Given the description of an element on the screen output the (x, y) to click on. 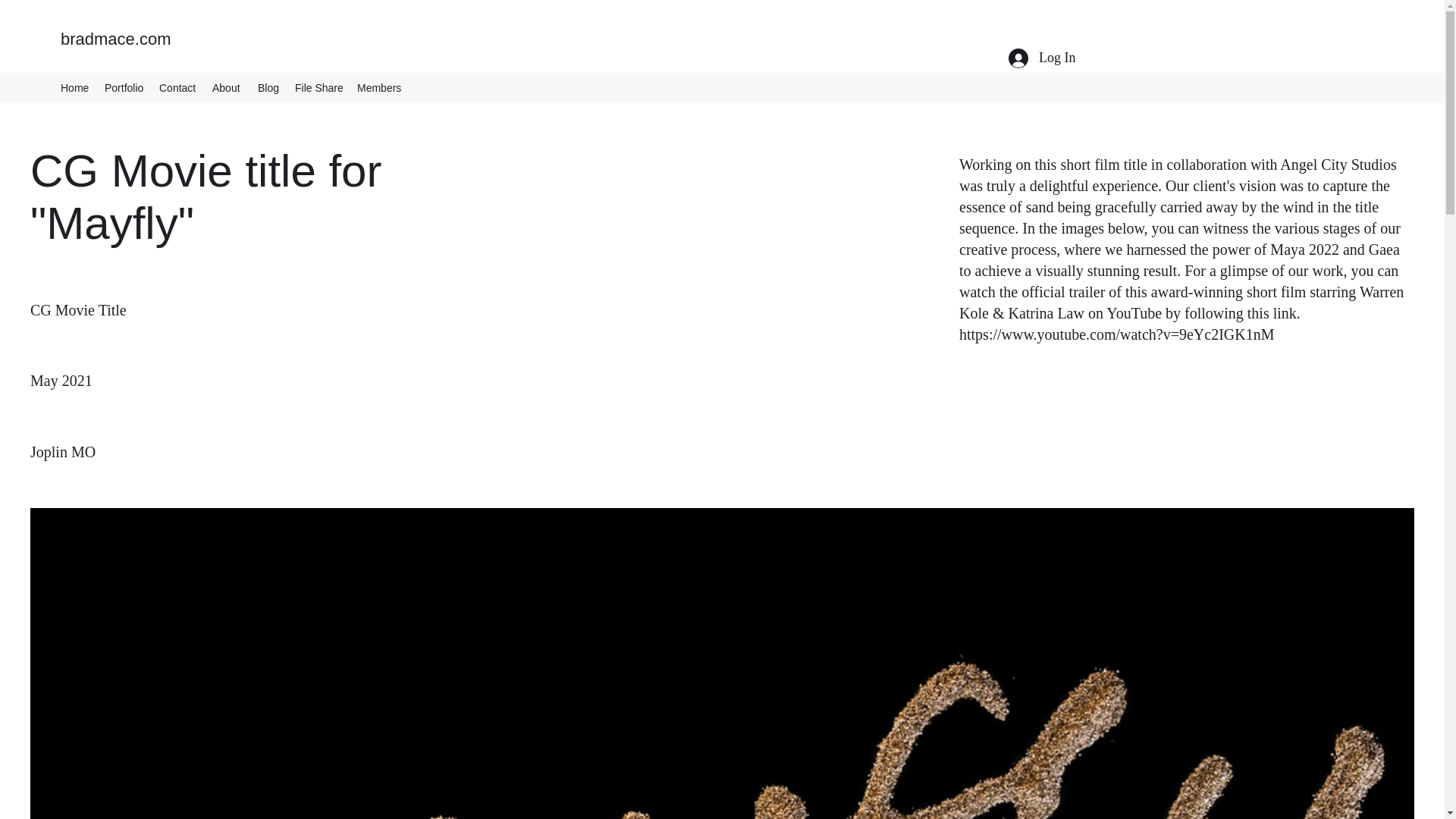
About (227, 87)
Blog (268, 87)
Log In (1041, 58)
Contact (178, 87)
Home (74, 87)
File Share (317, 87)
Portfolio (124, 87)
Members (379, 87)
